Given the description of an element on the screen output the (x, y) to click on. 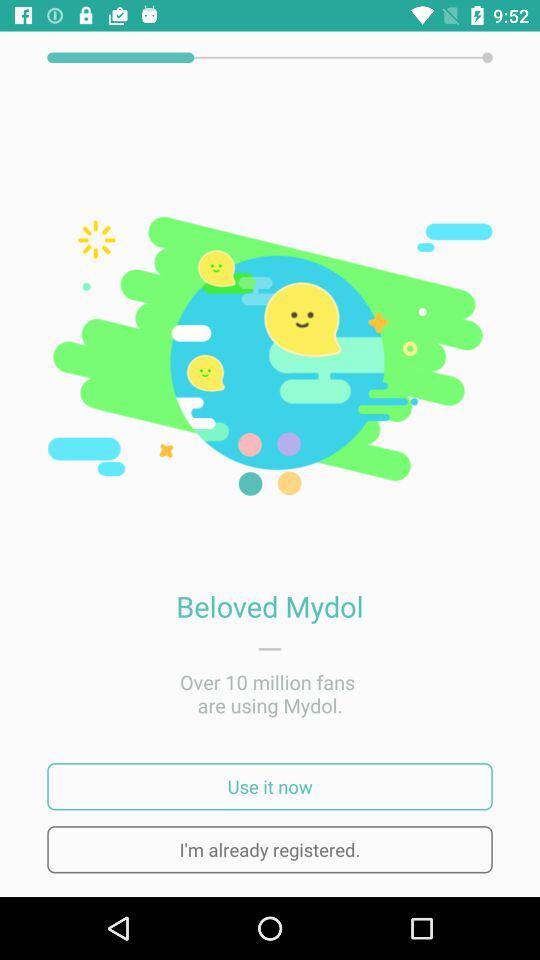
tap i m already (269, 849)
